Given the description of an element on the screen output the (x, y) to click on. 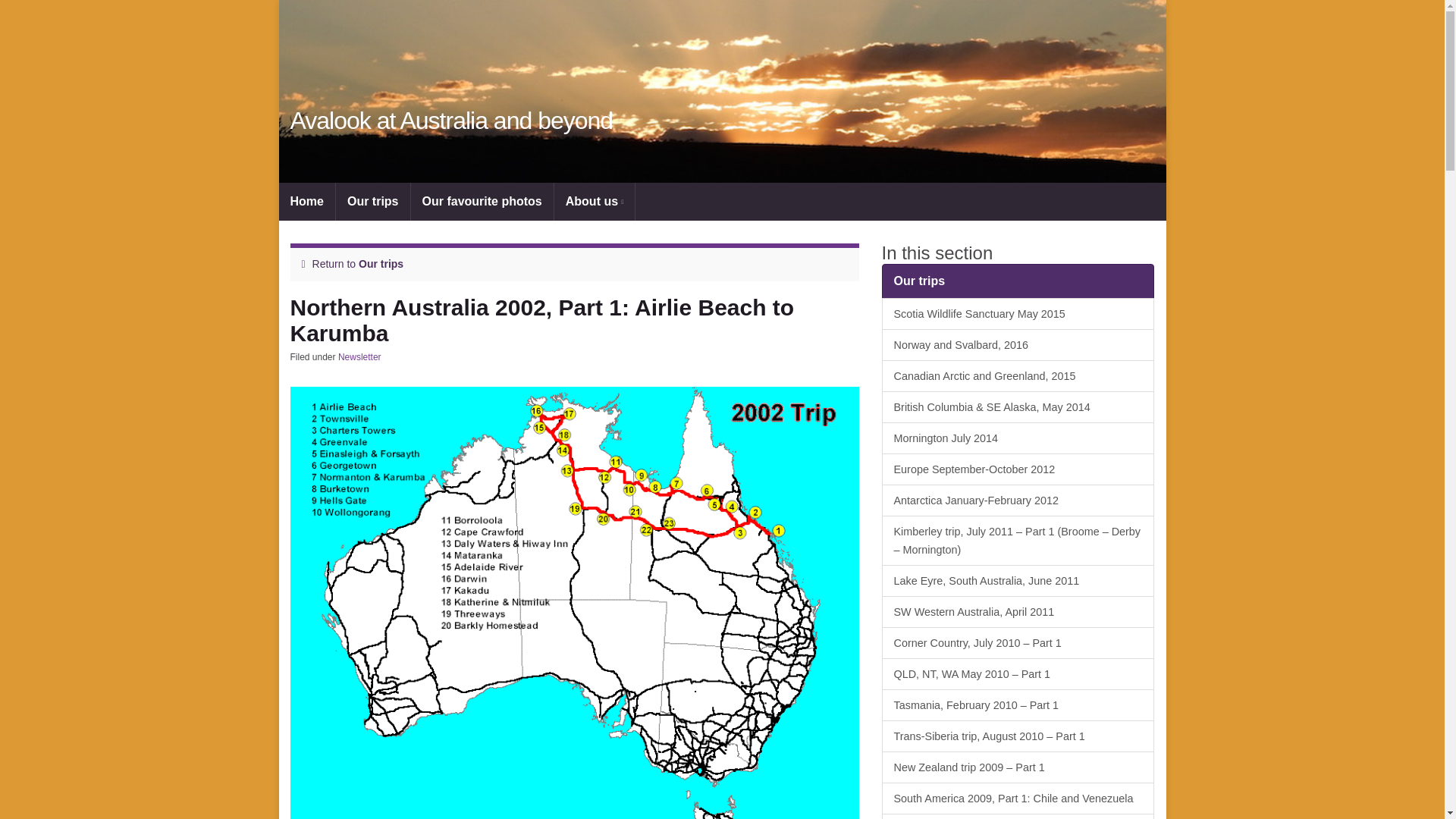
Europe September-October 2012 (1017, 469)
Newsletter (359, 357)
Our trips (1017, 280)
Avalook at Australia and beyond (450, 120)
Antarctica January-February 2012 (1017, 500)
Go back to the front page (450, 120)
Canadian Arctic and Greenland, 2015 (1017, 376)
SW Western Australia, April 2011 (1017, 612)
Mornington July 2014 (1017, 438)
Norway and Svalbard, 2016 (1017, 345)
